Given the description of an element on the screen output the (x, y) to click on. 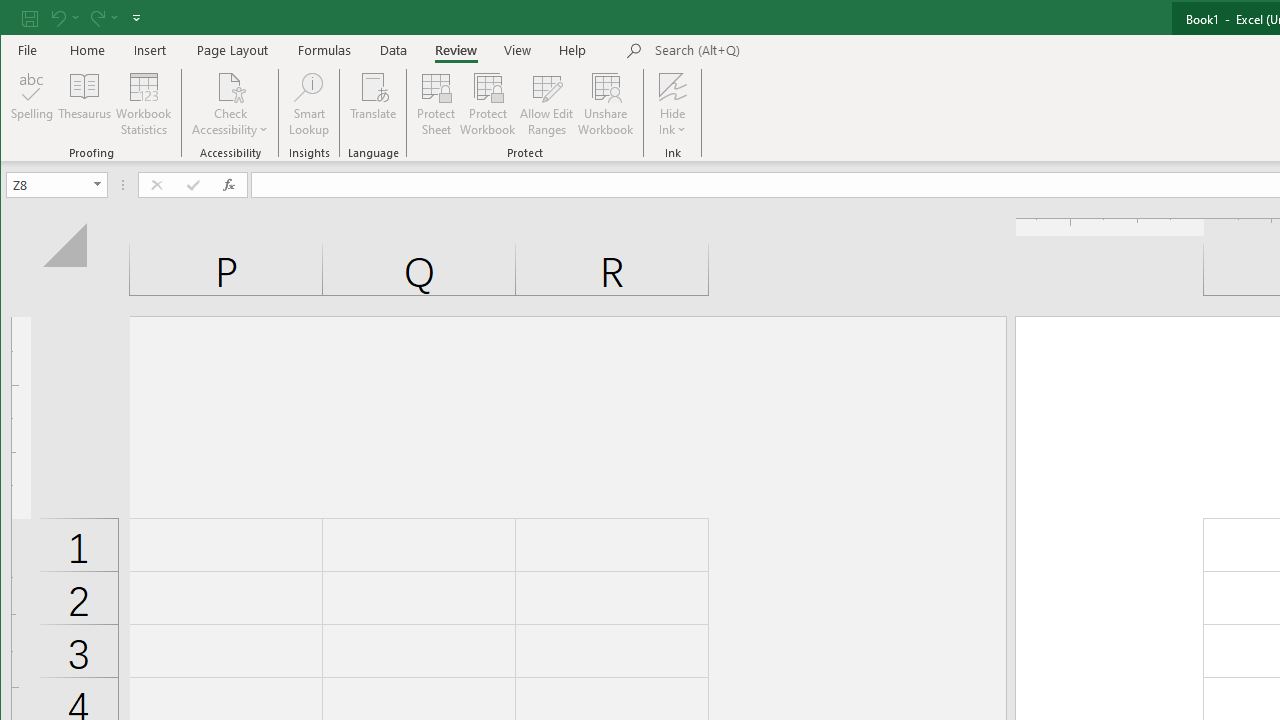
Unshare Workbook (606, 104)
Protect Sheet... (436, 104)
Protect Workbook... (488, 104)
Allow Edit Ranges (547, 104)
Workbook Statistics (143, 104)
Spelling... (32, 104)
